Given the description of an element on the screen output the (x, y) to click on. 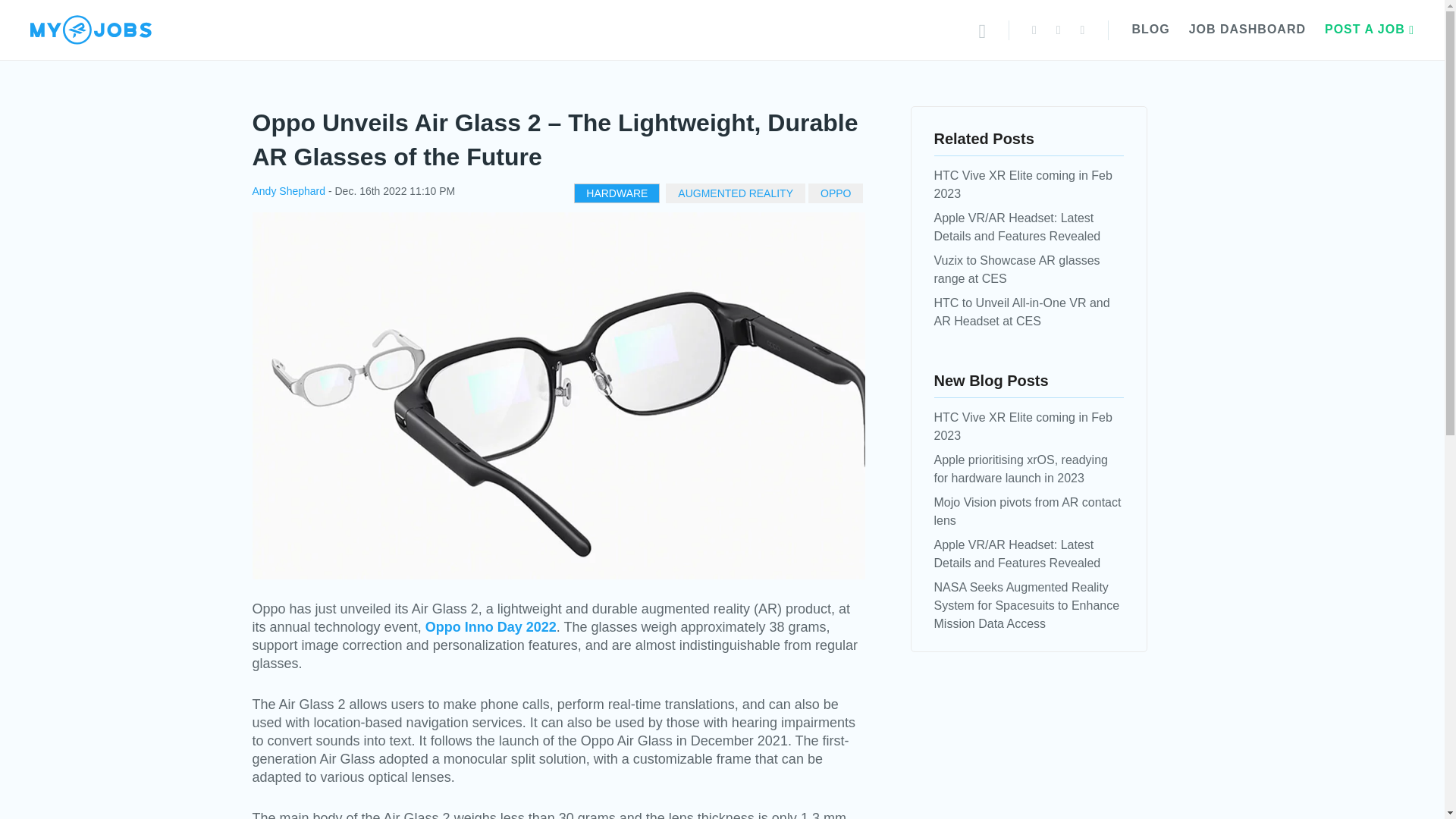
BLOG (1150, 28)
JOB DASHBOARD (1247, 28)
HTC Vive XR Elite coming in Feb 2023 (1023, 183)
OPPO (835, 193)
HTC to Unveil All-in-One VR and AR Headset at CES (1021, 311)
HTC Vive XR Elite coming in Feb 2023 (1023, 426)
Mojo Vision pivots from AR contact lens (1027, 511)
Oppo Inno Day 2022 (490, 626)
POST A JOB (1368, 28)
HTC Vive XR Elite coming in Feb 2023 (1023, 183)
AUGMENTED REALITY (735, 193)
HTC to Unveil All-in-One VR and AR Headset at CES (1021, 311)
Vuzix to Showcase AR glasses range at CES (1017, 269)
